Given the description of an element on the screen output the (x, y) to click on. 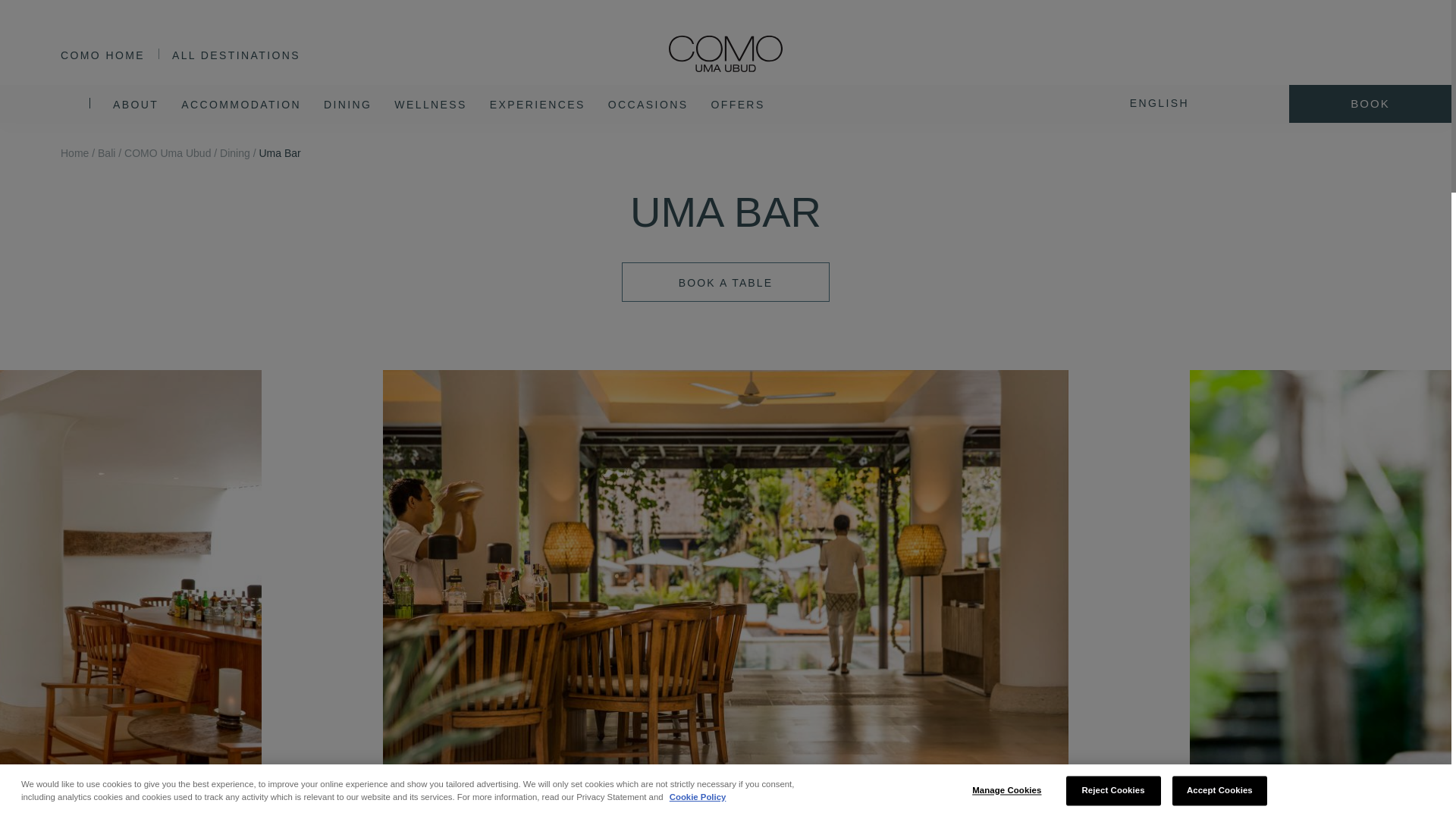
COMO HOME (102, 54)
ACCOMMODATION (240, 103)
DINING (347, 103)
COMO Uma Ubud (725, 72)
WELLNESS (429, 103)
COMO Hotels and Resorts Home Page (102, 54)
ABOUT (135, 103)
Book a table (725, 282)
ALL DESTINATIONS (249, 54)
